Given the description of an element on the screen output the (x, y) to click on. 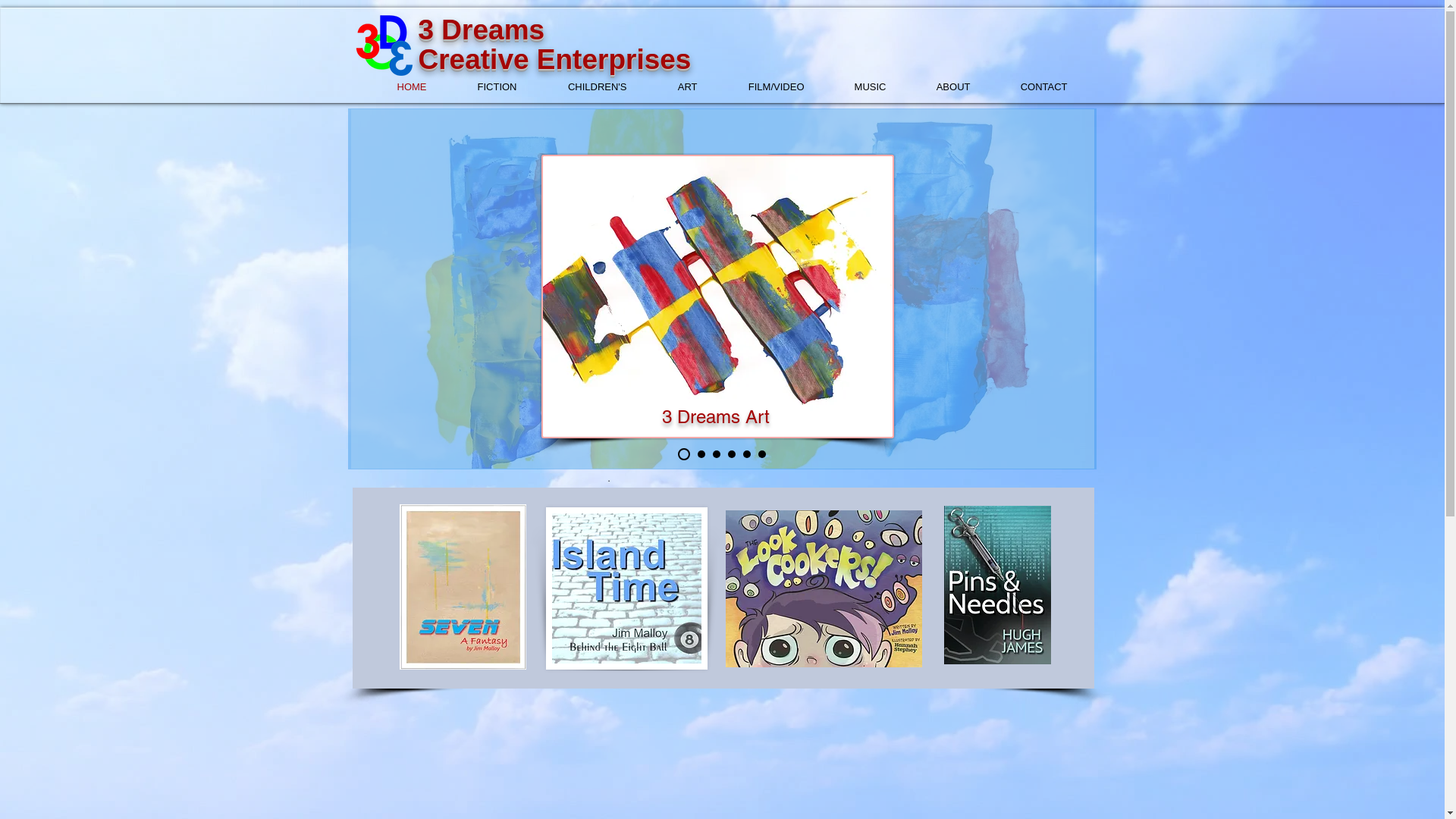
ABOUT Element type: text (939, 86)
CHILDREN'S Element type: text (582, 86)
ART Element type: text (673, 86)
CONTACT Element type: text (1029, 86)
HOME Element type: text (397, 86)
MUSIC Element type: text (856, 86)
FICTION Element type: text (483, 86)
FILM/VIDEO Element type: text (761, 86)
